Given the description of an element on the screen output the (x, y) to click on. 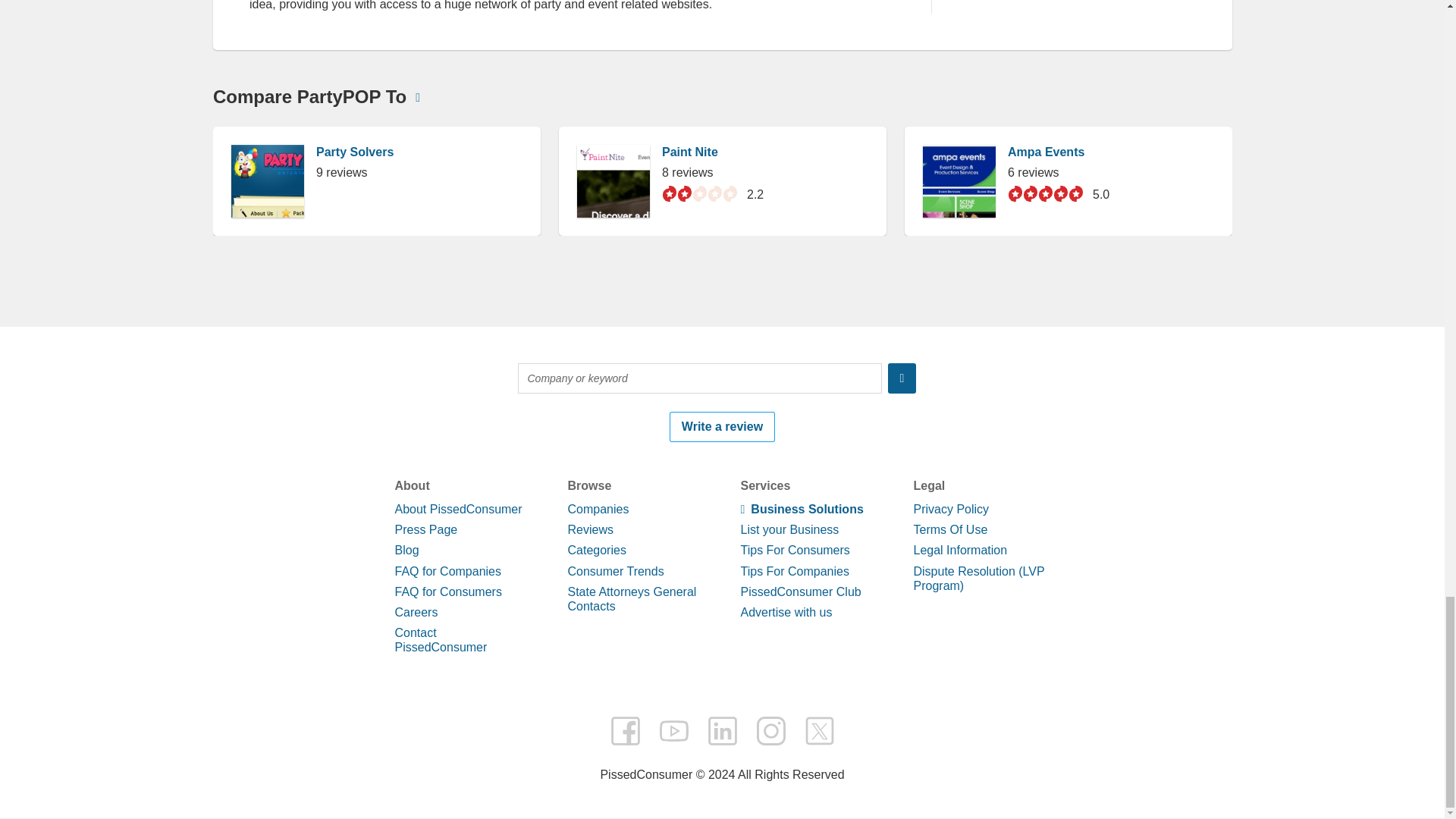
Paint Nite (689, 734)
Ampa Events (1045, 734)
Party Solvers (354, 734)
